Given the description of an element on the screen output the (x, y) to click on. 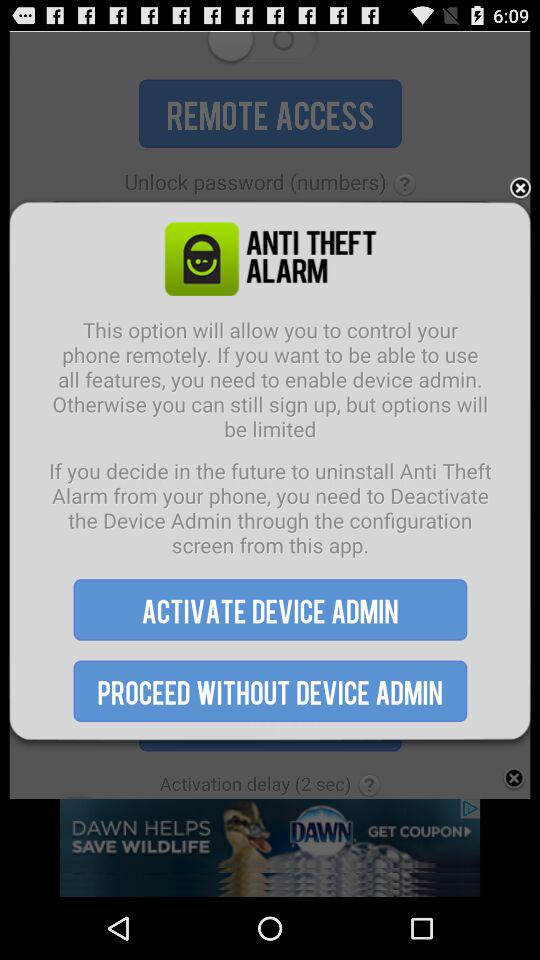
dismiss notification (520, 188)
